Given the description of an element on the screen output the (x, y) to click on. 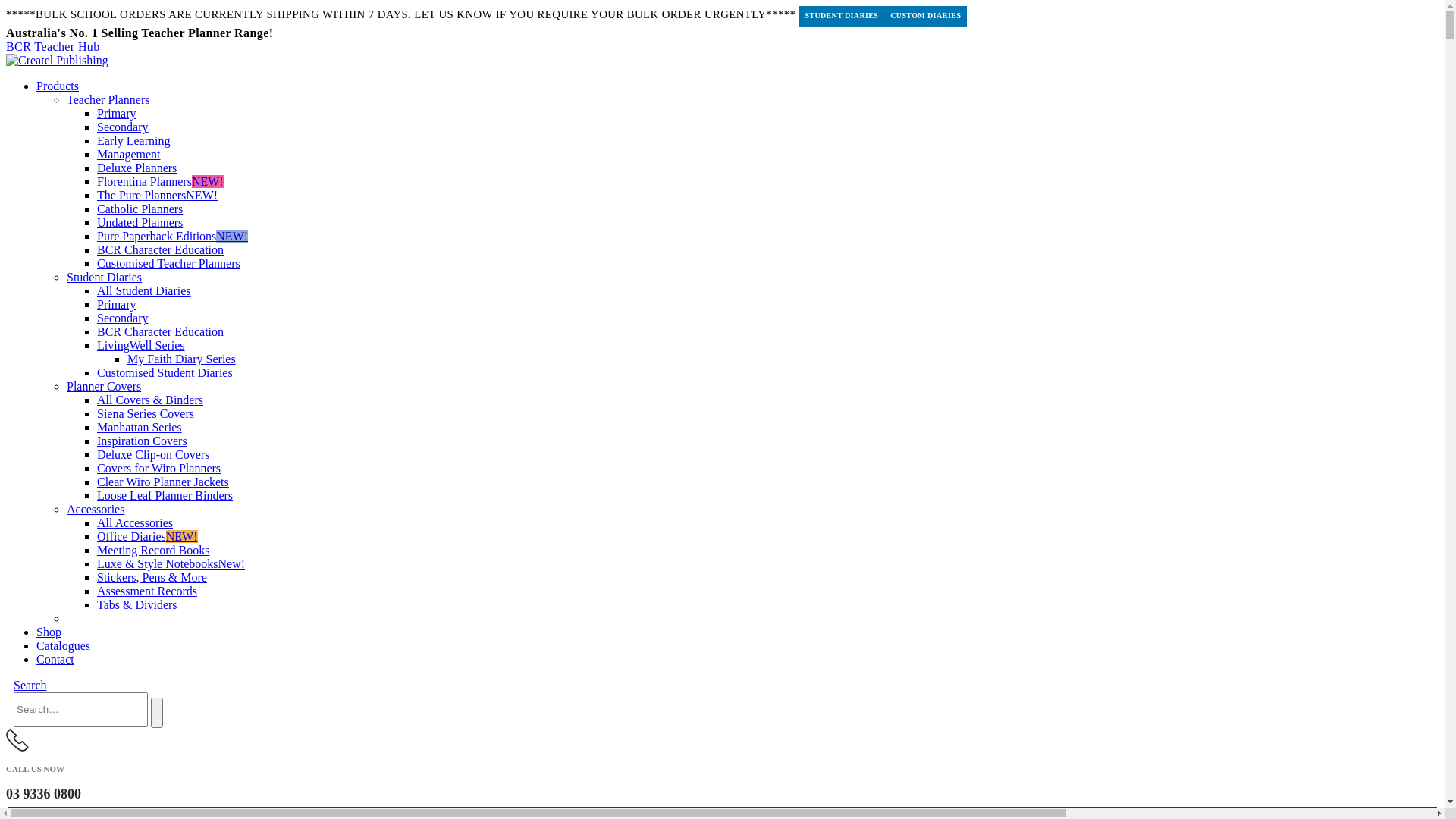
Planner Covers Element type: text (103, 385)
Accessories Element type: text (95, 508)
Loose Leaf Planner Binders Element type: text (164, 495)
Catalogues Element type: text (63, 645)
Deluxe Planners Element type: text (136, 167)
LivingWell Series Element type: text (141, 344)
Createl Publishing - Planning for Success Element type: hover (57, 59)
Stickers, Pens & More Element type: text (152, 577)
BCR Teacher Hub Element type: text (53, 46)
Luxe & Style NotebooksNew! Element type: text (170, 563)
Assessment Records Element type: text (147, 590)
Secondary Element type: text (122, 317)
Pure Paperback EditionsNEW! Element type: text (172, 235)
Office DiariesNEW! Element type: text (147, 536)
Covers for Wiro Planners Element type: text (158, 467)
Customised Teacher Planners Element type: text (168, 263)
Meeting Record Books Element type: text (153, 549)
Florentina PlannersNEW! Element type: text (160, 181)
Products Element type: text (57, 85)
Early Learning Element type: text (133, 140)
Catholic Planners Element type: text (139, 208)
Teacher Planners Element type: text (108, 99)
Undated Planners Element type: text (139, 222)
The Pure PlannersNEW! Element type: text (157, 194)
All Student Diaries Element type: text (144, 290)
Management Element type: text (128, 153)
Tabs & Dividers Element type: text (137, 604)
All Accessories Element type: text (134, 522)
Clear Wiro Planner Jackets Element type: text (163, 481)
Shop Element type: text (48, 631)
Manhattan Series Element type: text (139, 426)
Secondary Element type: text (122, 126)
Customised Student Diaries Element type: text (164, 372)
All Covers & Binders Element type: text (150, 399)
CUSTOM DIARIES Element type: text (925, 16)
STUDENT DIARIES Element type: text (841, 16)
BCR Character Education Element type: text (160, 249)
Deluxe Clip-on Covers Element type: text (153, 454)
My Faith Diary Series Element type: text (181, 358)
Inspiration Covers Element type: text (142, 440)
Siena Series Covers Element type: text (145, 413)
Search Element type: text (30, 684)
Contact Element type: text (55, 658)
Primary Element type: text (116, 112)
BCR Character Education Element type: text (160, 331)
Primary Element type: text (116, 304)
Search Element type: hover (156, 712)
Student Diaries Element type: text (103, 276)
